Given the description of an element on the screen output the (x, y) to click on. 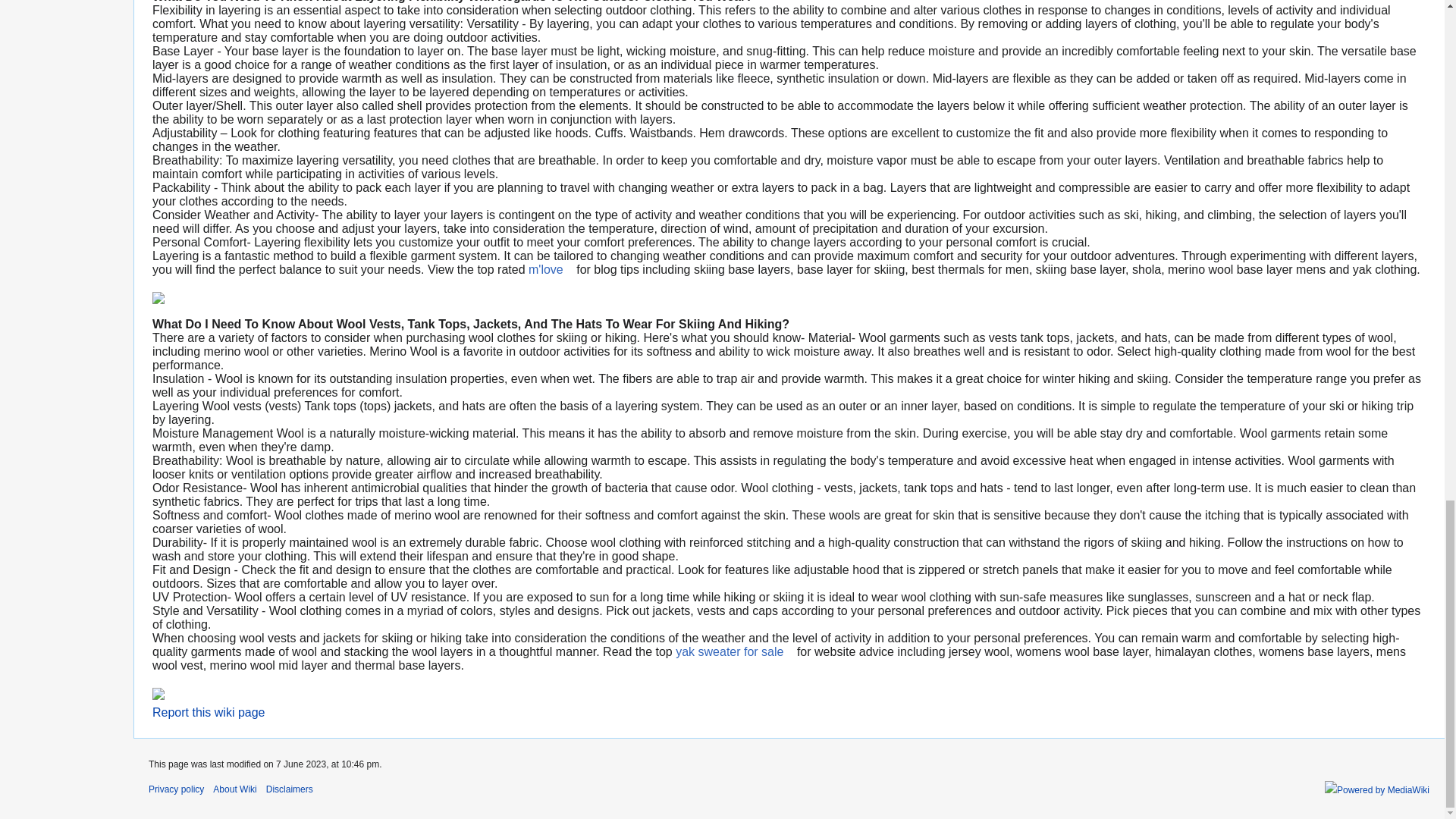
Disclaimers (289, 788)
yak sweater for sale (734, 651)
About Wiki (234, 788)
Privacy policy (175, 788)
Report this wiki page (208, 712)
m'love (550, 269)
